Given the description of an element on the screen output the (x, y) to click on. 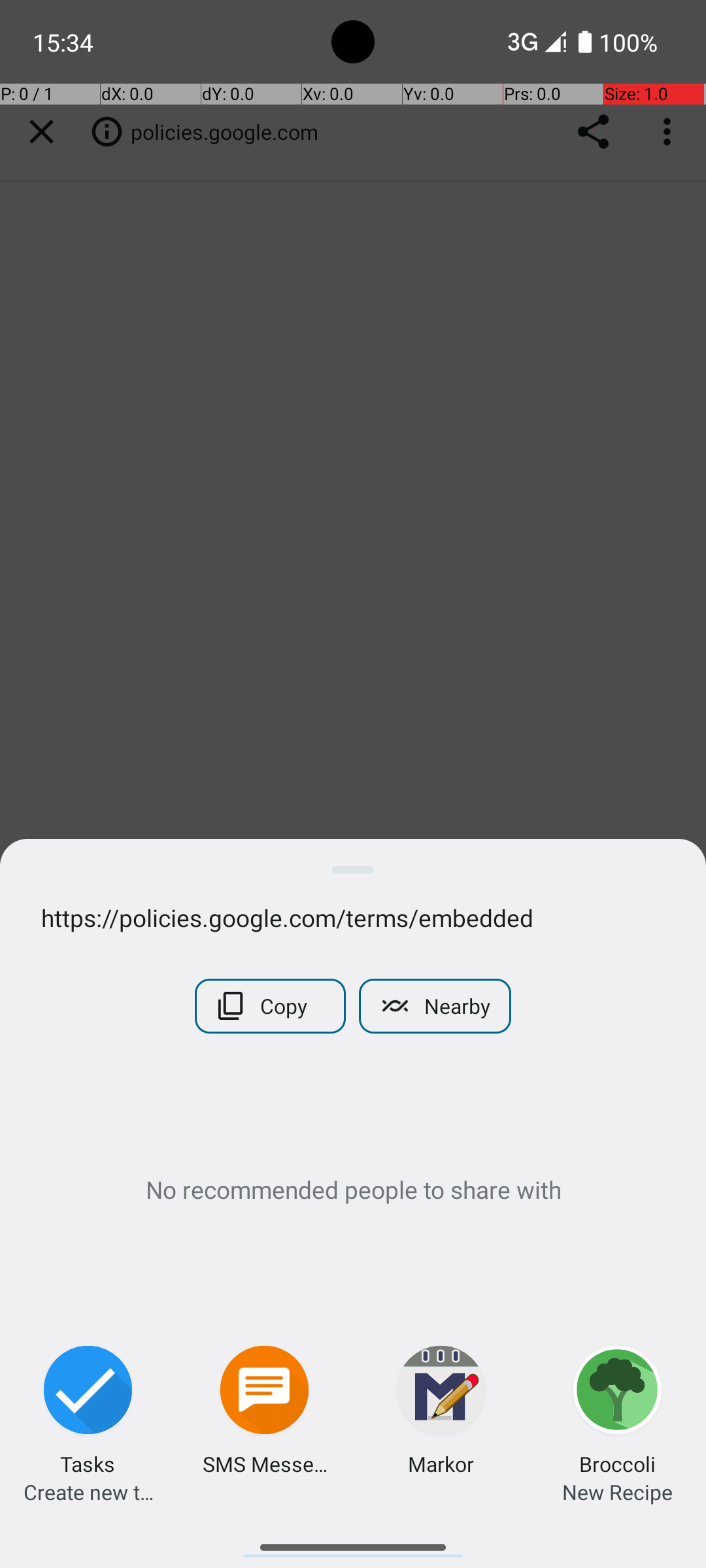
https://policies.google.com/terms/embedded Element type: android.widget.TextView (352, 917)
Copy Element type: android.widget.Button (269, 1005)
Create new task Element type: android.widget.TextView (87, 1491)
